Given the description of an element on the screen output the (x, y) to click on. 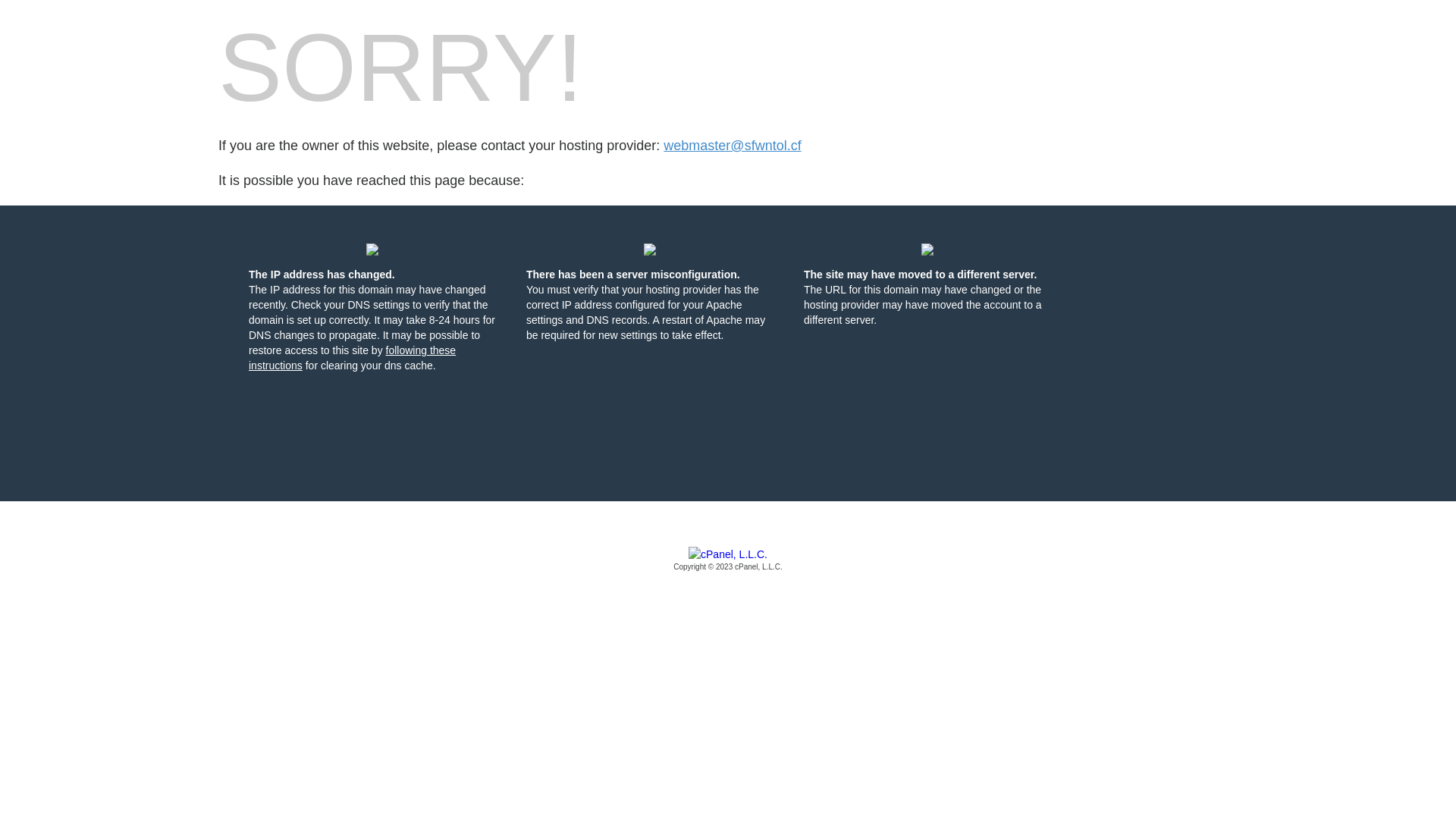
webmaster@sfwntol.cf Element type: text (731, 145)
following these instructions Element type: text (351, 357)
